Given the description of an element on the screen output the (x, y) to click on. 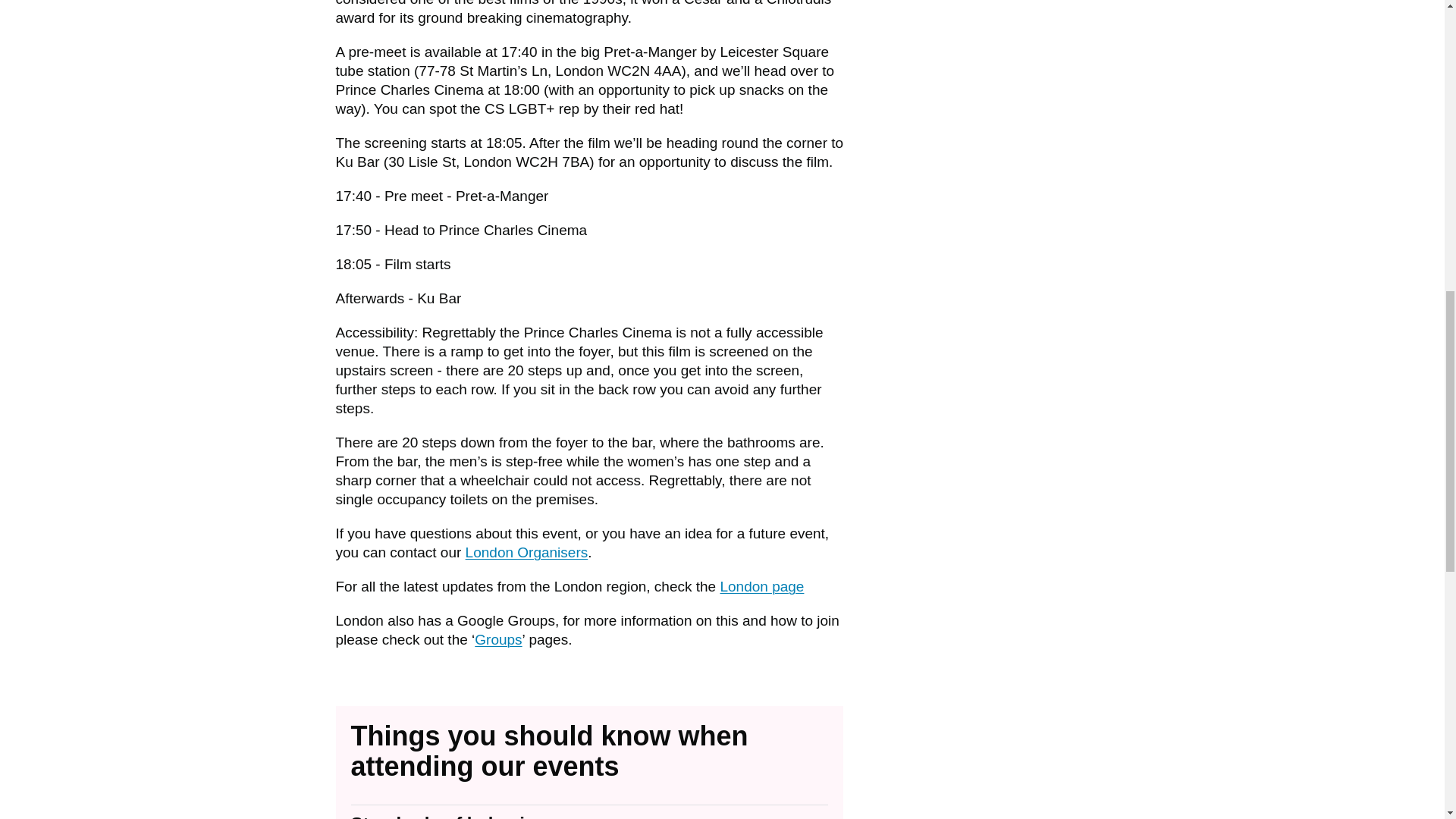
Groups (497, 639)
London Organisers (526, 552)
London page (761, 586)
